Given the description of an element on the screen output the (x, y) to click on. 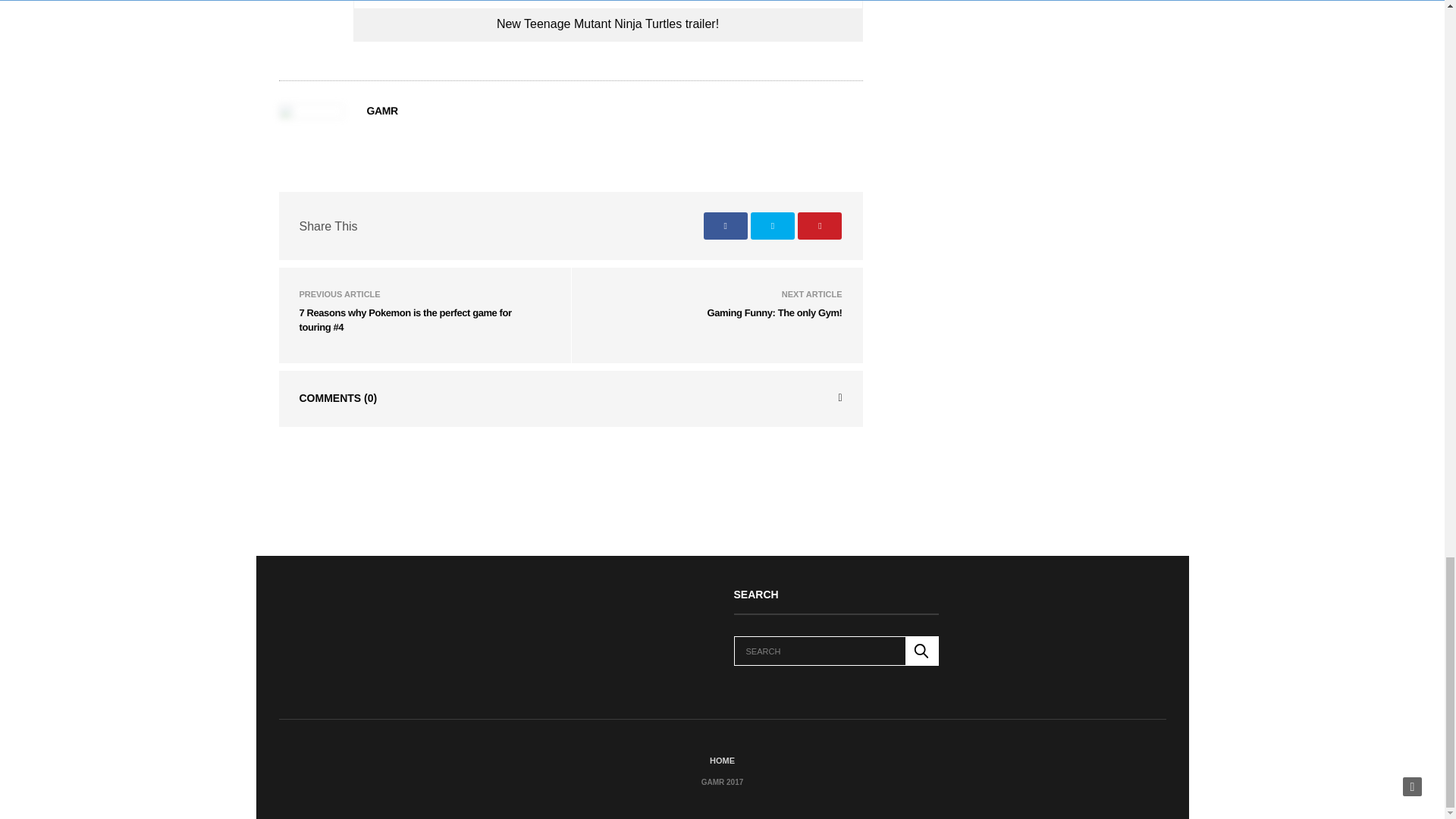
Search (922, 650)
New Teenage Mutant Ninja Turtles trailer! (607, 23)
Gaming Funny: The only Gym! (775, 312)
